Given the description of an element on the screen output the (x, y) to click on. 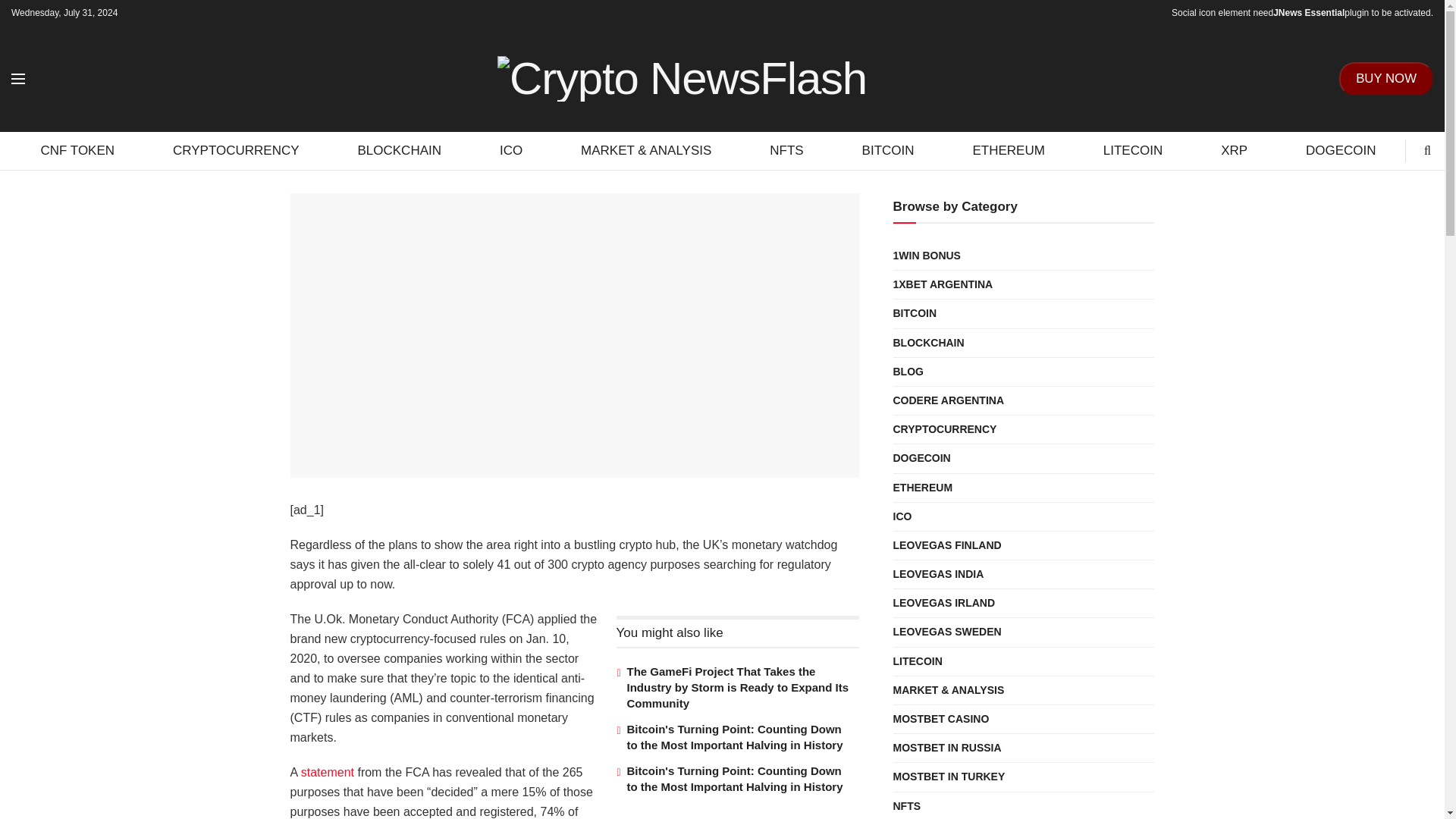
statement (327, 771)
DOGECOIN (1340, 150)
LITECOIN (1132, 150)
BITCOIN (887, 150)
CRYPTOCURRENCY (236, 150)
BLOCKCHAIN (399, 150)
CNF TOKEN (77, 150)
NFTS (786, 150)
BUY NOW (1385, 78)
ICO (510, 150)
ETHEREUM (1008, 150)
XRP (1234, 150)
